Given the description of an element on the screen output the (x, y) to click on. 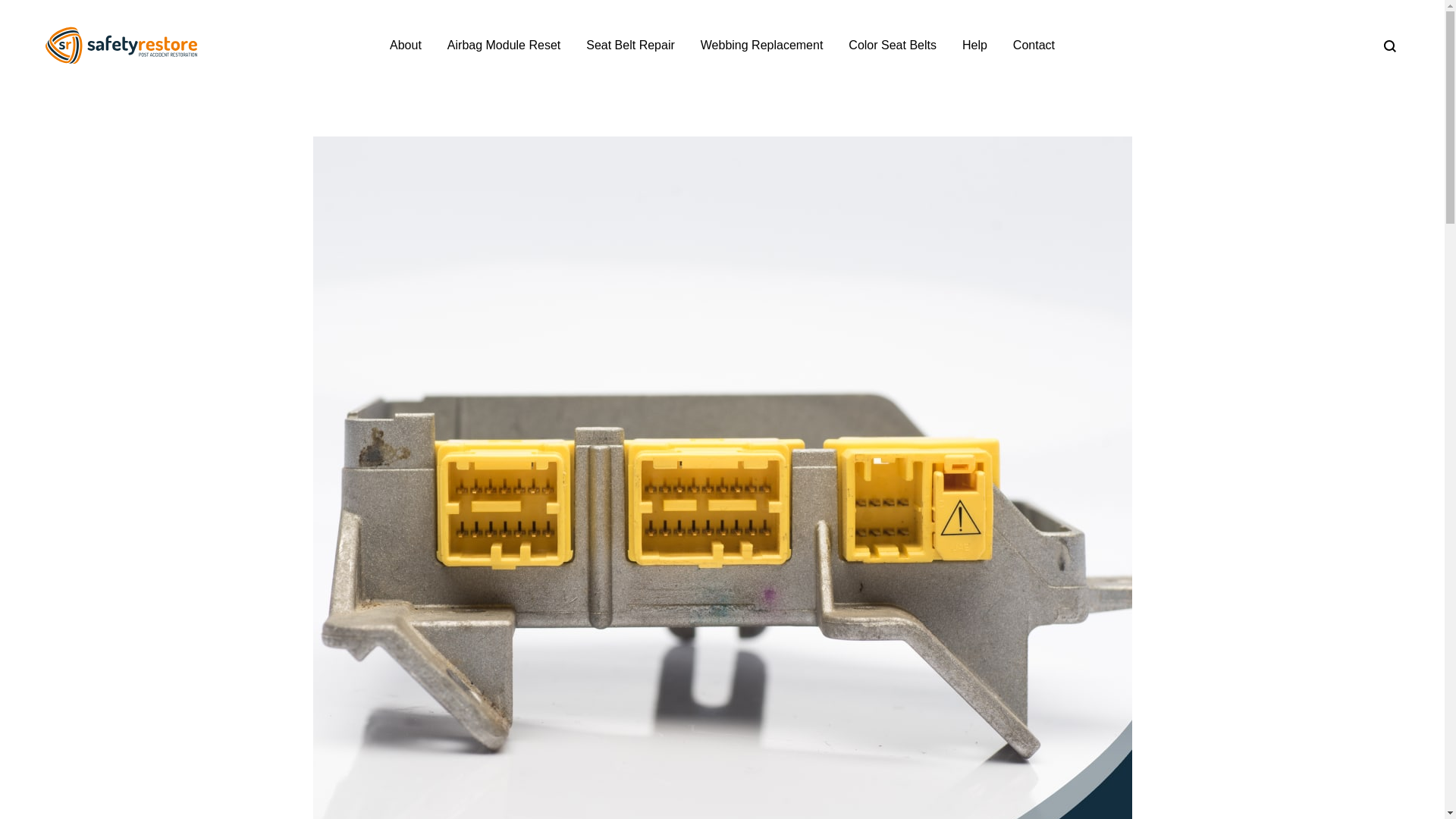
Webbing Replacement (762, 45)
Airbag Module Reset (503, 45)
Help (974, 45)
Contact (1033, 45)
Color Seat Belts (892, 45)
About (406, 45)
Seat Belt Repair (630, 45)
